Given the description of an element on the screen output the (x, y) to click on. 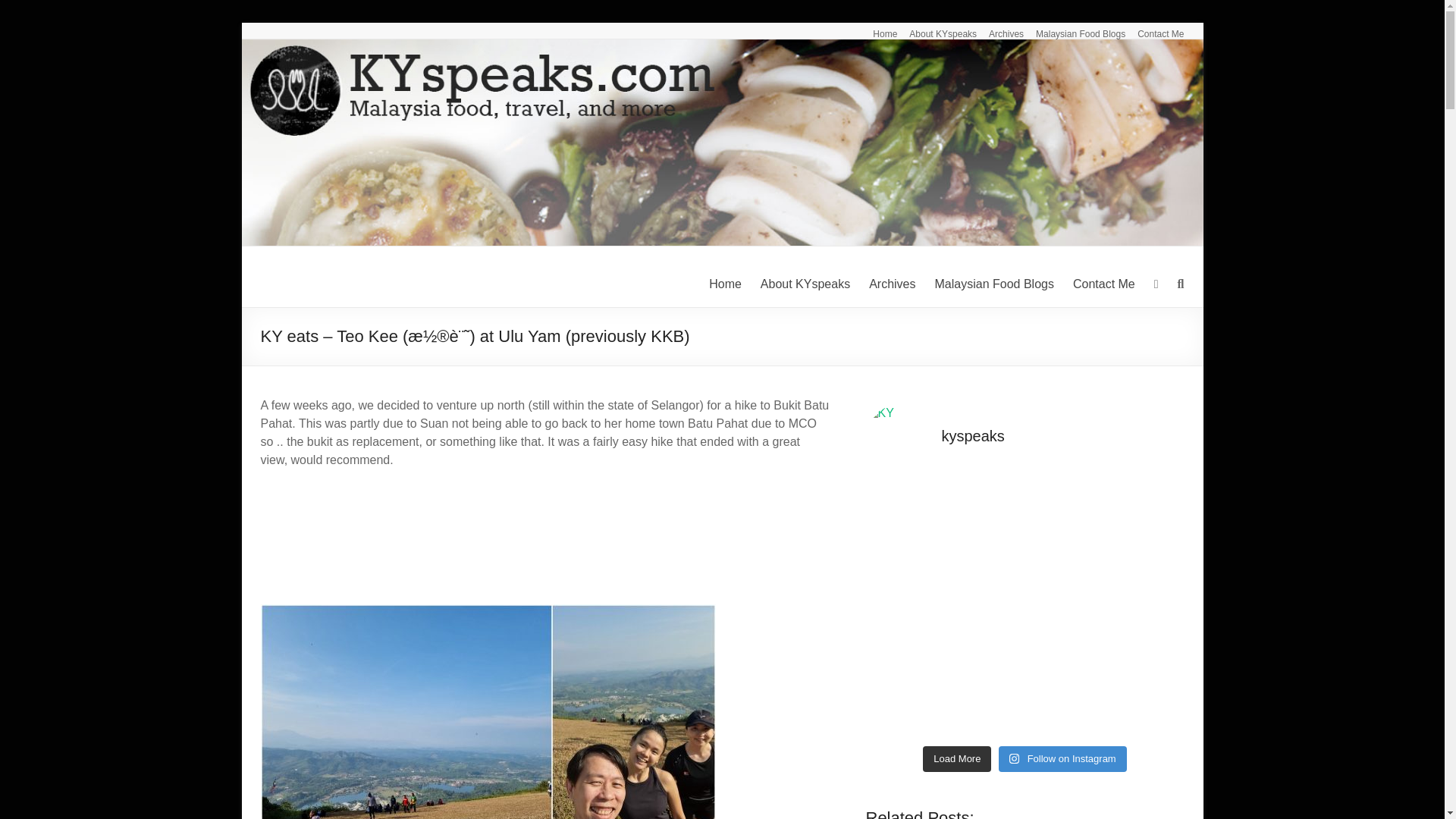
Contact Me (1104, 283)
Contact Me (1154, 30)
Home (878, 30)
Archives (999, 30)
Malaysian Food Blogs (994, 283)
KYspeaks (320, 277)
KYspeaks (320, 277)
About KYspeaks (805, 283)
Home (725, 283)
About KYspeaks (936, 30)
Malaysian Food Blogs (1074, 30)
Archives (892, 283)
